Given the description of an element on the screen output the (x, y) to click on. 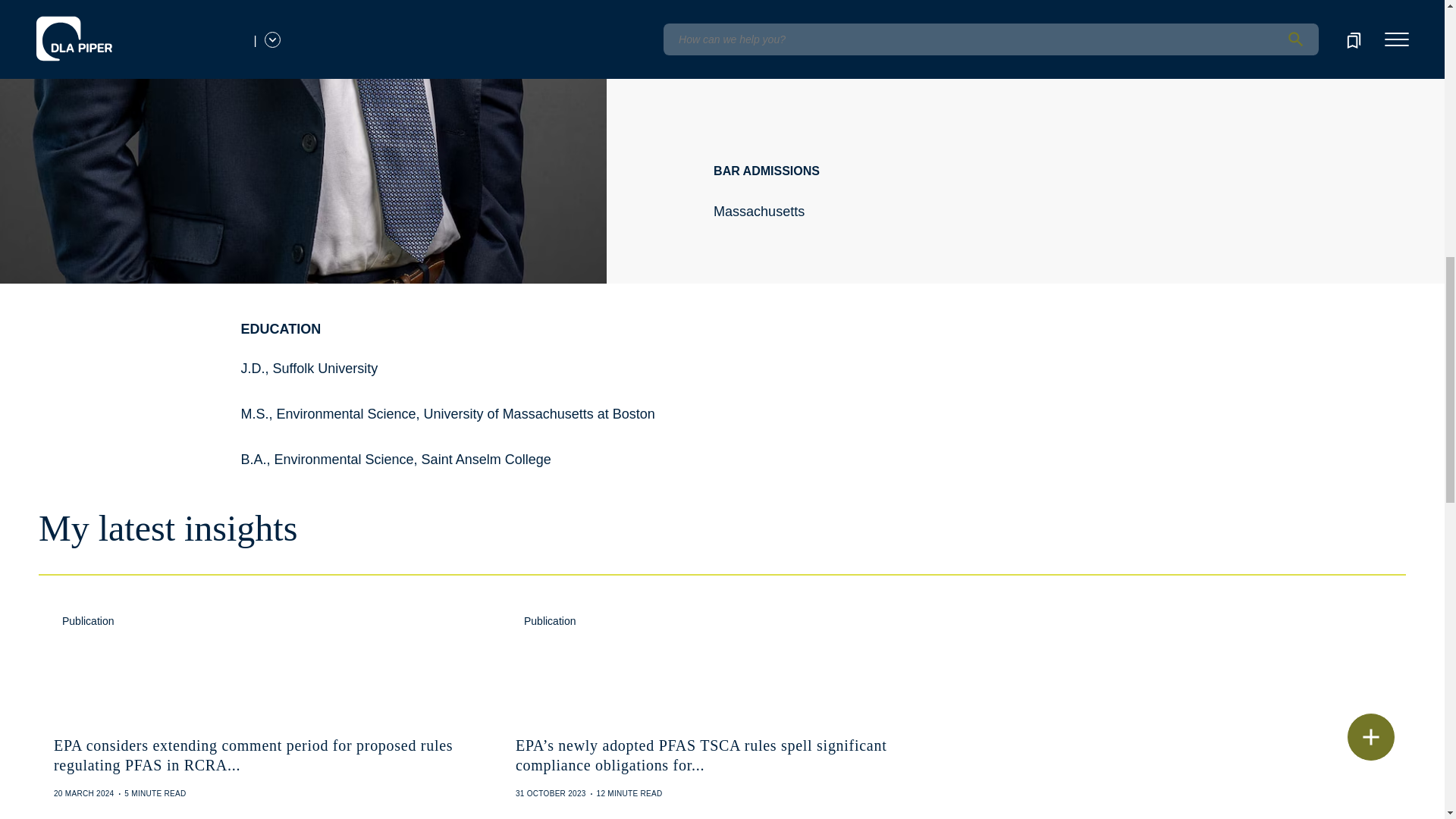
Litigation, Arbitration and Investigations (828, 56)
Environment, Health and Safety (1050, 56)
